Given the description of an element on the screen output the (x, y) to click on. 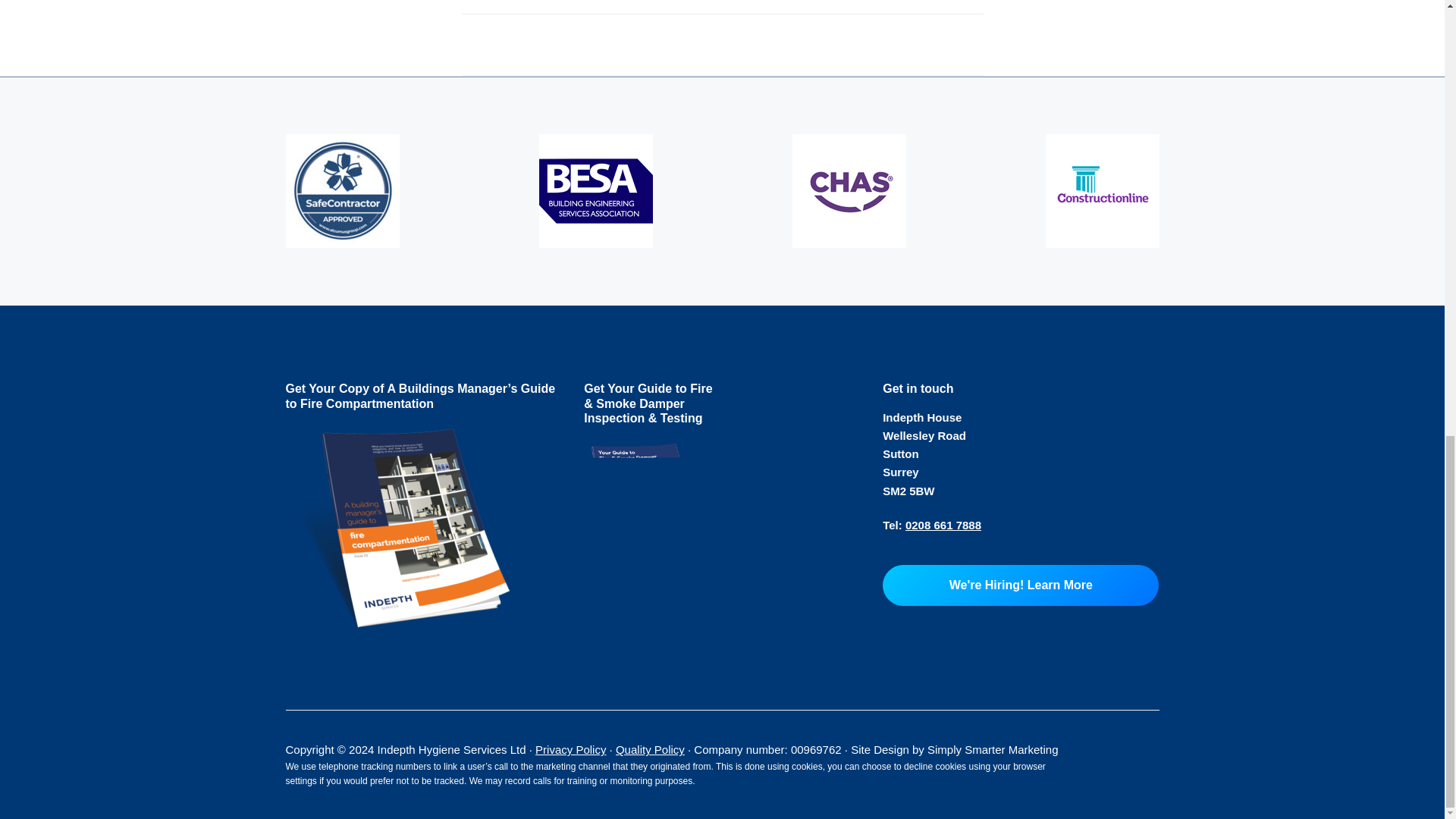
We're Hiring! Learn More (1020, 585)
Privacy Policy (570, 748)
Quality Policy (649, 748)
0208 661 7888 (943, 524)
